Given the description of an element on the screen output the (x, y) to click on. 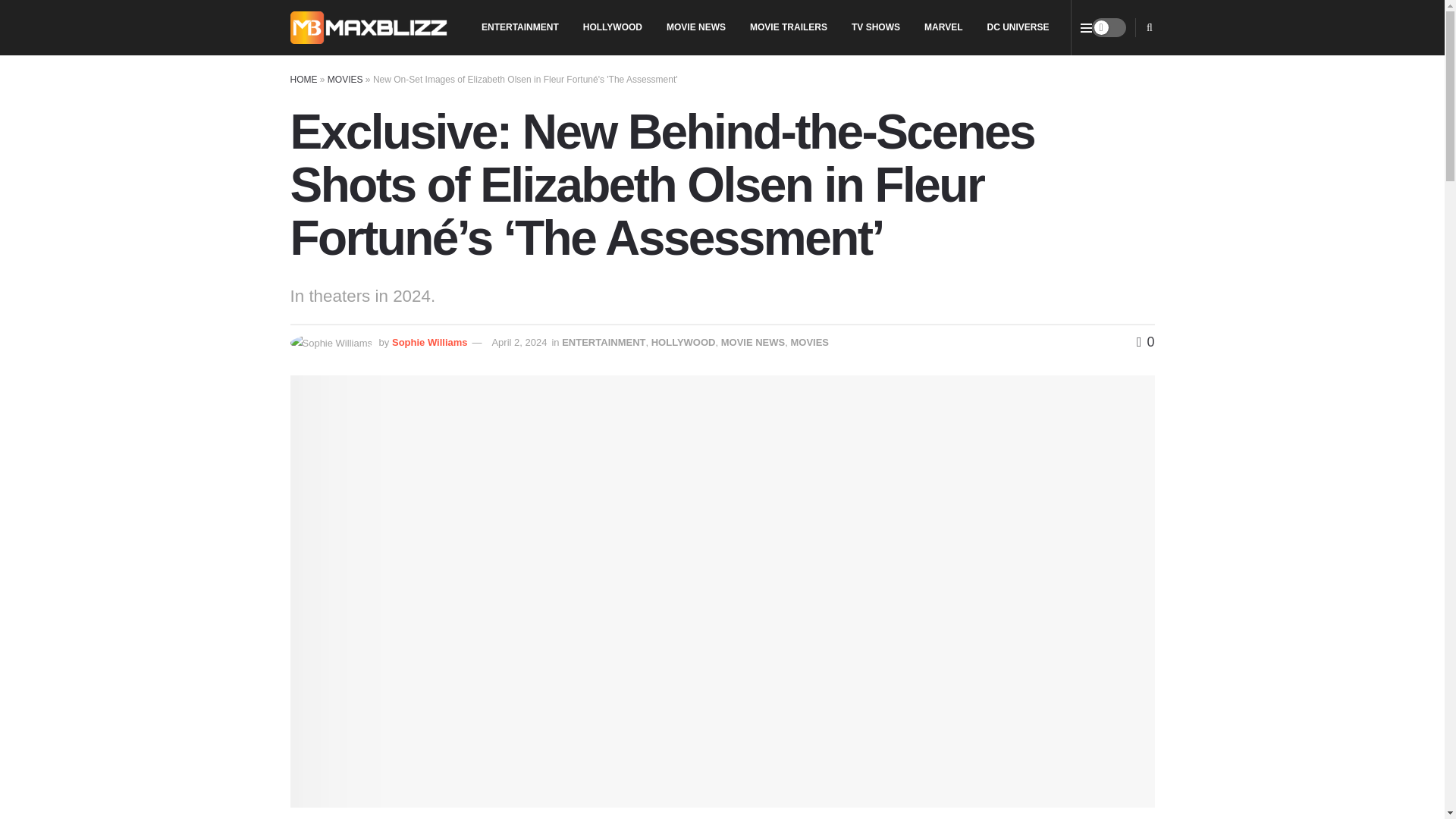
MOVIE NEWS (753, 342)
ENTERTAINMENT (519, 27)
MOVIES (344, 79)
MOVIE NEWS (695, 27)
April 2, 2024 (519, 342)
MOVIE TRAILERS (789, 27)
HOLLYWOOD (683, 342)
DC UNIVERSE (1017, 27)
MARVEL (943, 27)
MOVIES (809, 342)
HOLLYWOOD (611, 27)
0 (1145, 341)
Sophie Williams (429, 342)
TV SHOWS (876, 27)
HOME (303, 79)
